Given the description of an element on the screen output the (x, y) to click on. 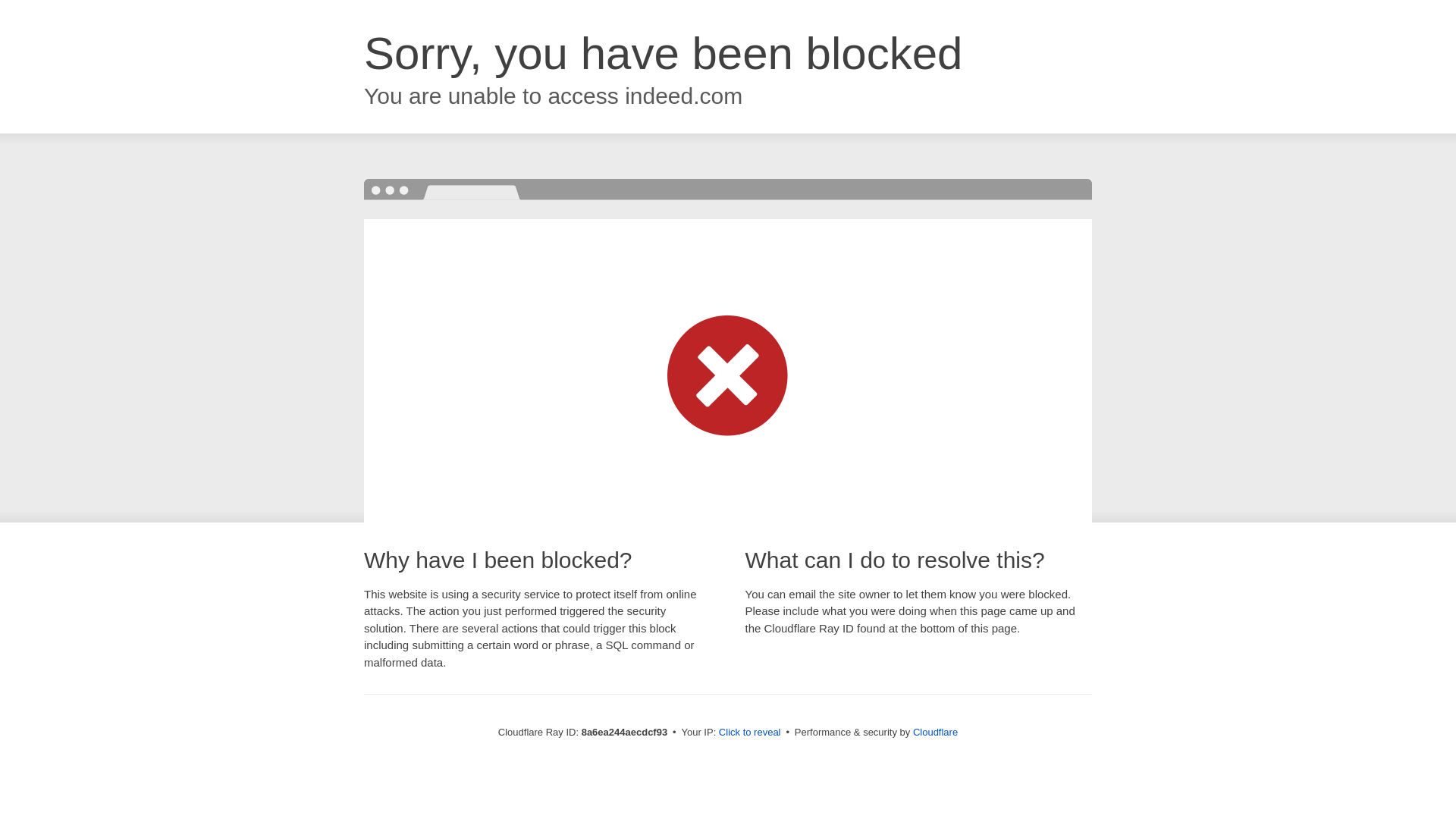
Cloudflare (935, 731)
Click to reveal (749, 732)
